Given the description of an element on the screen output the (x, y) to click on. 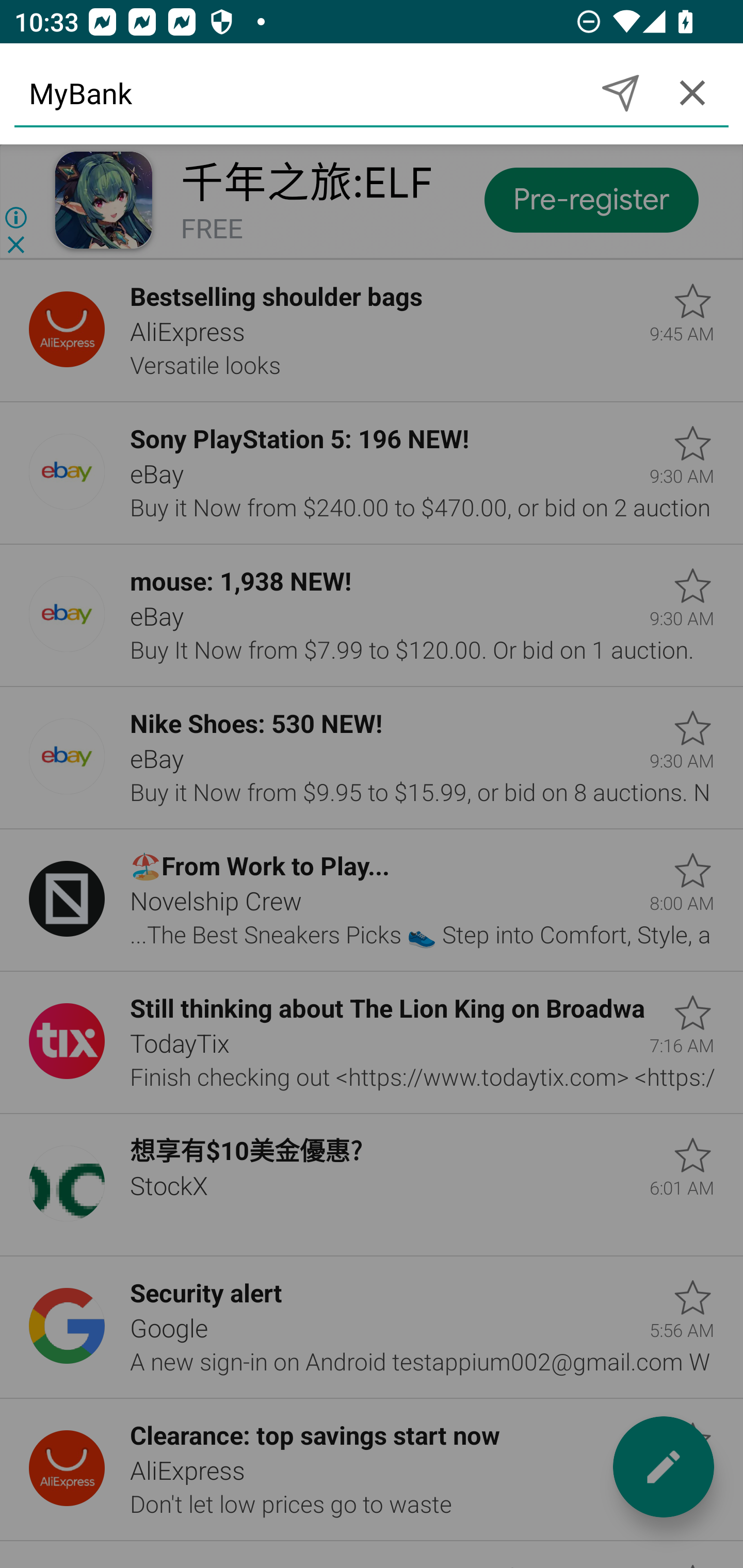
MyBank (298, 92)
Search sender only (619, 92)
Cancel (692, 92)
